Given the description of an element on the screen output the (x, y) to click on. 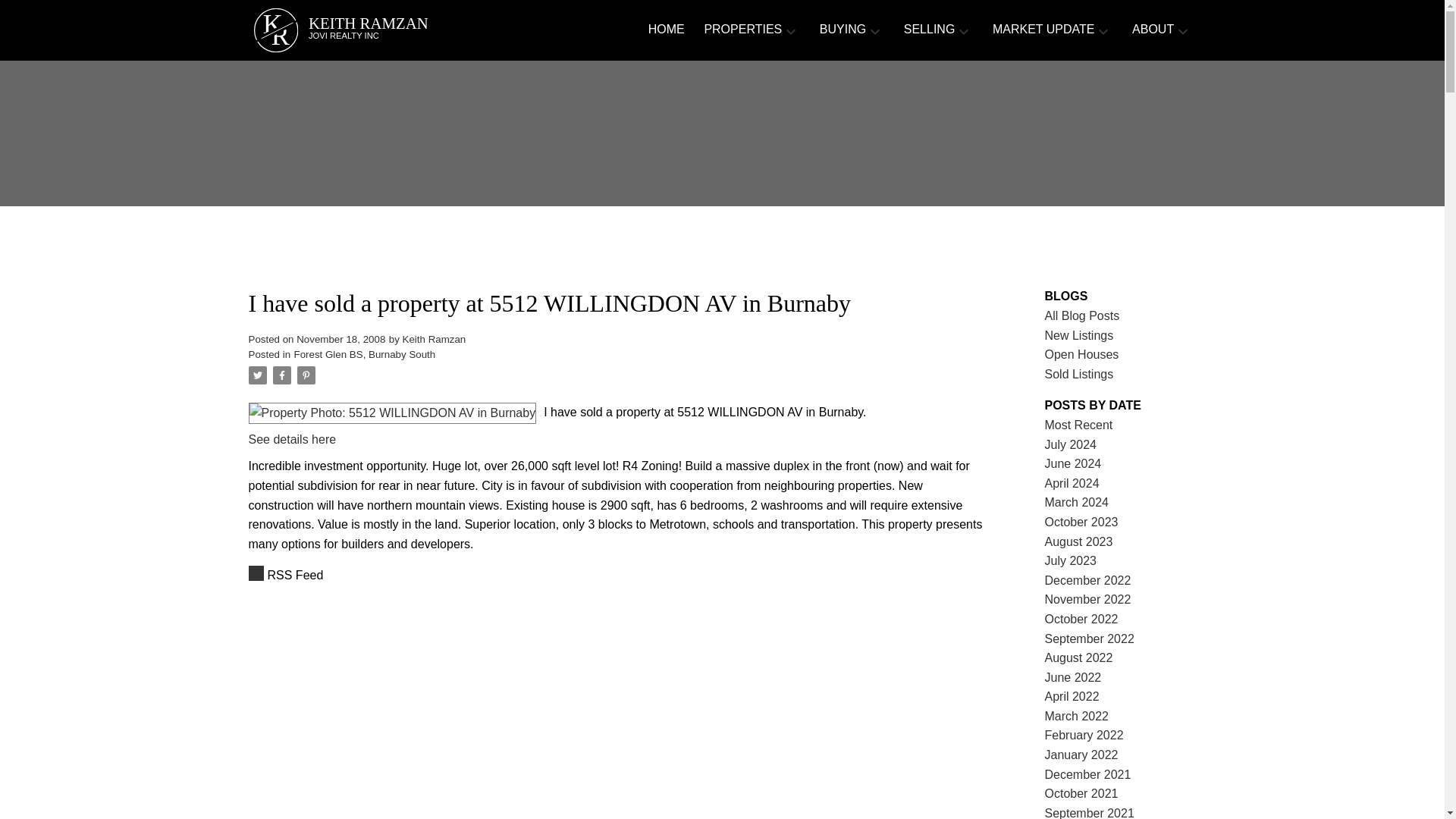
ABOUT (1152, 30)
BUYING (842, 30)
RSS (392, 30)
PROPERTIES (616, 575)
HOME (742, 30)
SELLING (665, 30)
